Given the description of an element on the screen output the (x, y) to click on. 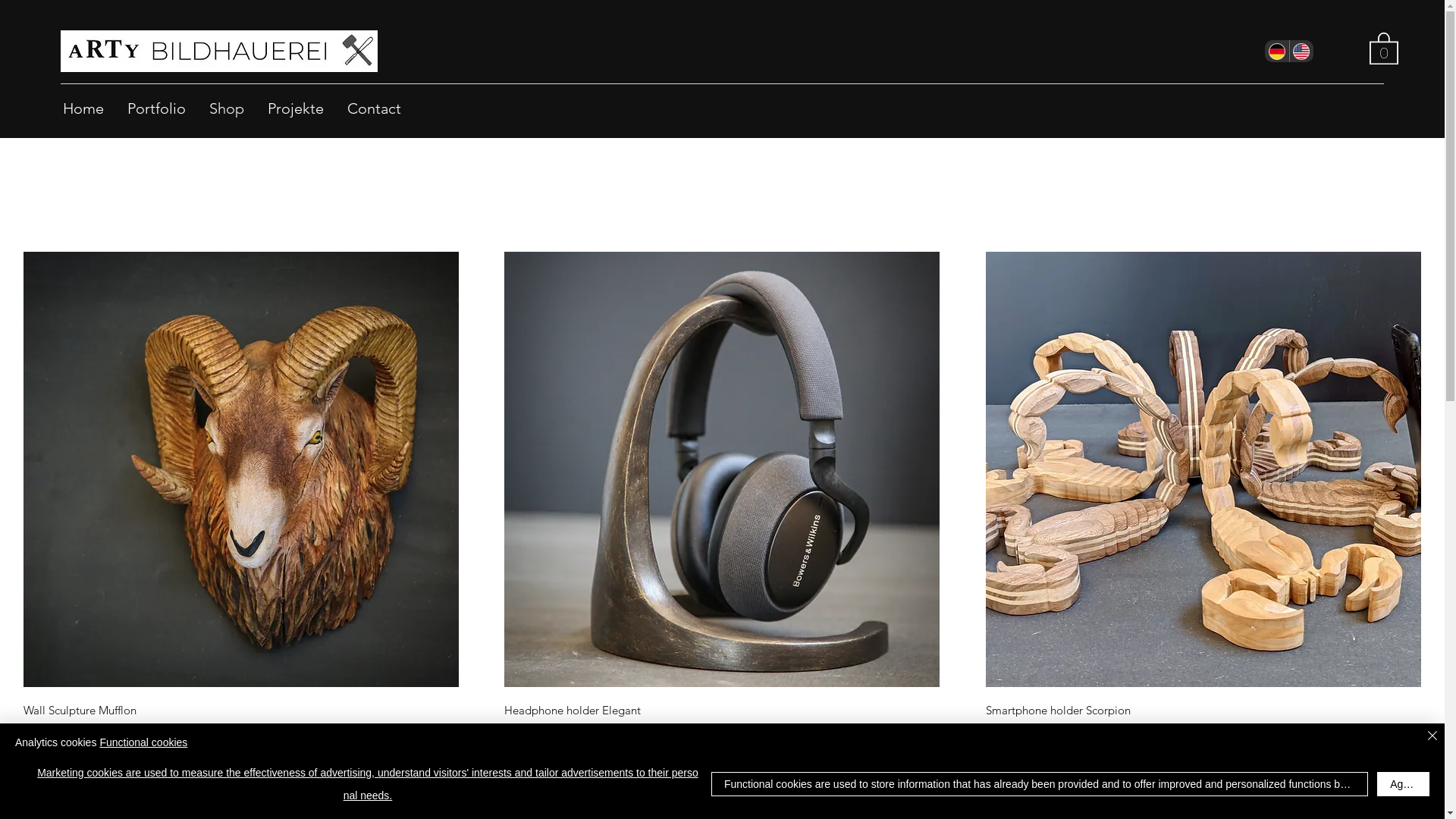
TWIPLA (Visitor Analytics) Element type: hover (1442, 4)
Contact Element type: text (373, 108)
Agree Element type: text (1403, 783)
Wall Sculpture Mufflon
Price
CHF2,400.00 Element type: text (240, 720)
Functional cookies Element type: text (143, 742)
Home Element type: text (83, 108)
Embedded Content Element type: hover (693, 25)
Shop Element type: text (226, 108)
Projekte Element type: text (295, 108)
Portfolio Element type: text (156, 108)
Headphone holder Elegant
Price
CHF150.00 Element type: text (721, 720)
0 Element type: text (1383, 47)
Smartphone holder Scorpion
Price
CHF320.00 Element type: text (1203, 720)
